Given the description of an element on the screen output the (x, y) to click on. 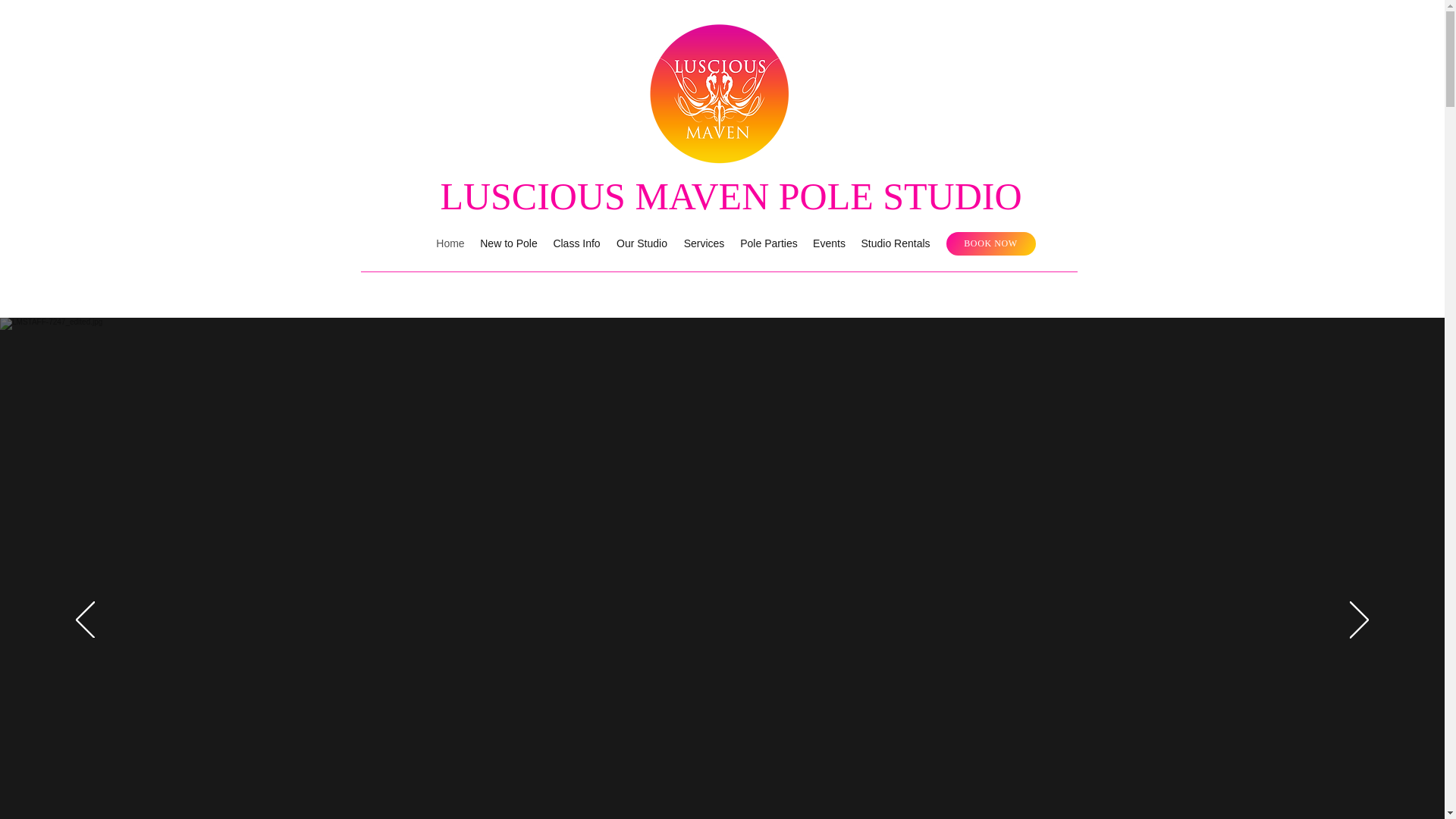
Class Info (577, 243)
Events (826, 243)
Pole Parties (766, 243)
BOOK NOW (990, 243)
Home (452, 243)
LUSCIOUS MAVEN POLE STUDIO (730, 196)
Services (702, 243)
Our Studio (641, 243)
Studio Rentals (892, 243)
New to Pole (510, 243)
